Given the description of an element on the screen output the (x, y) to click on. 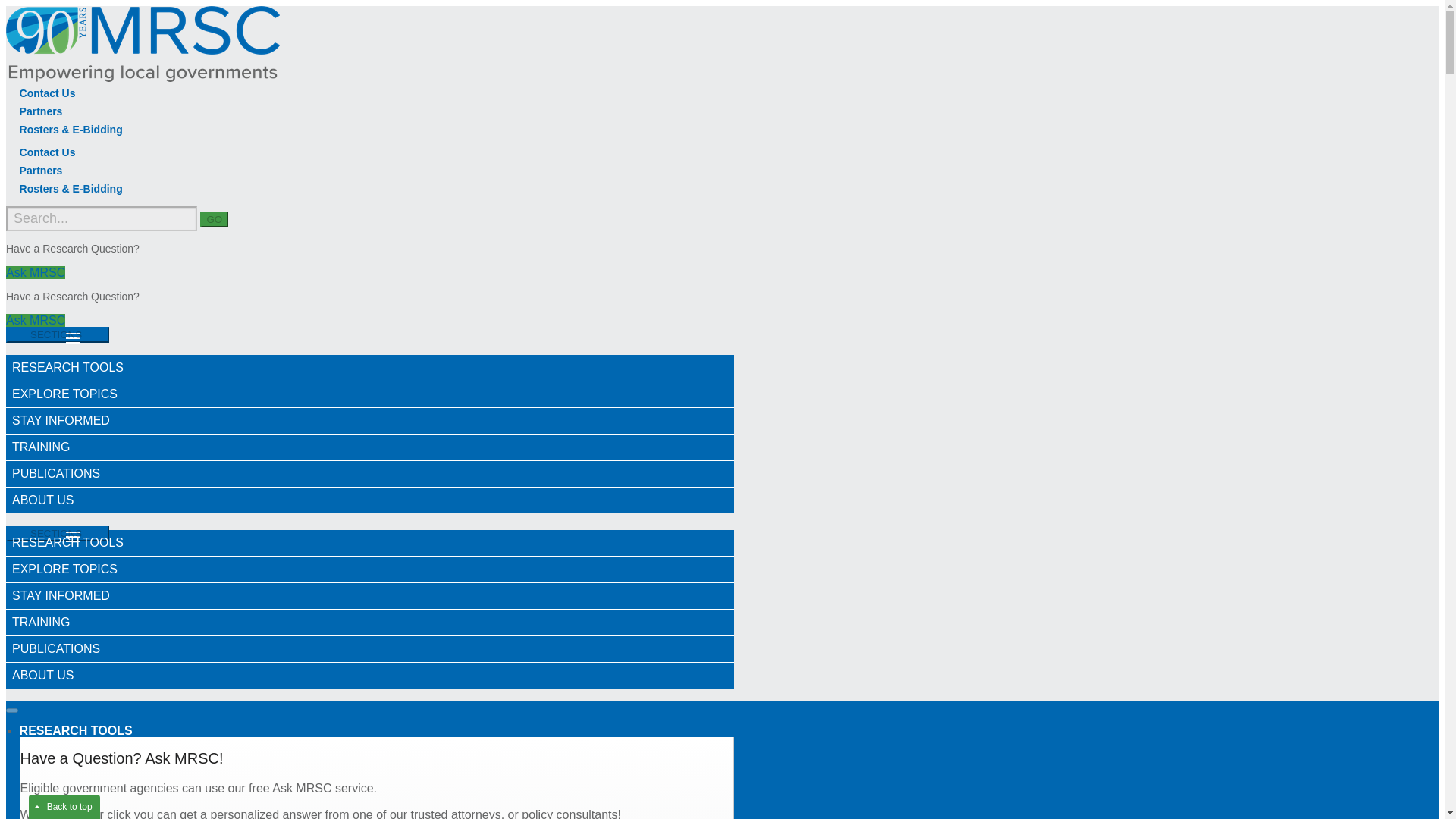
RESEARCH TOOLS (369, 367)
MRSC logo (142, 43)
PUBLICATIONS (369, 648)
Contact Us (47, 92)
STAY INFORMED (369, 596)
Ask MRSC (57, 334)
EXPLORE TOPICS (35, 272)
Ask MRSC (369, 394)
PUBLICATIONS (35, 319)
